Given the description of an element on the screen output the (x, y) to click on. 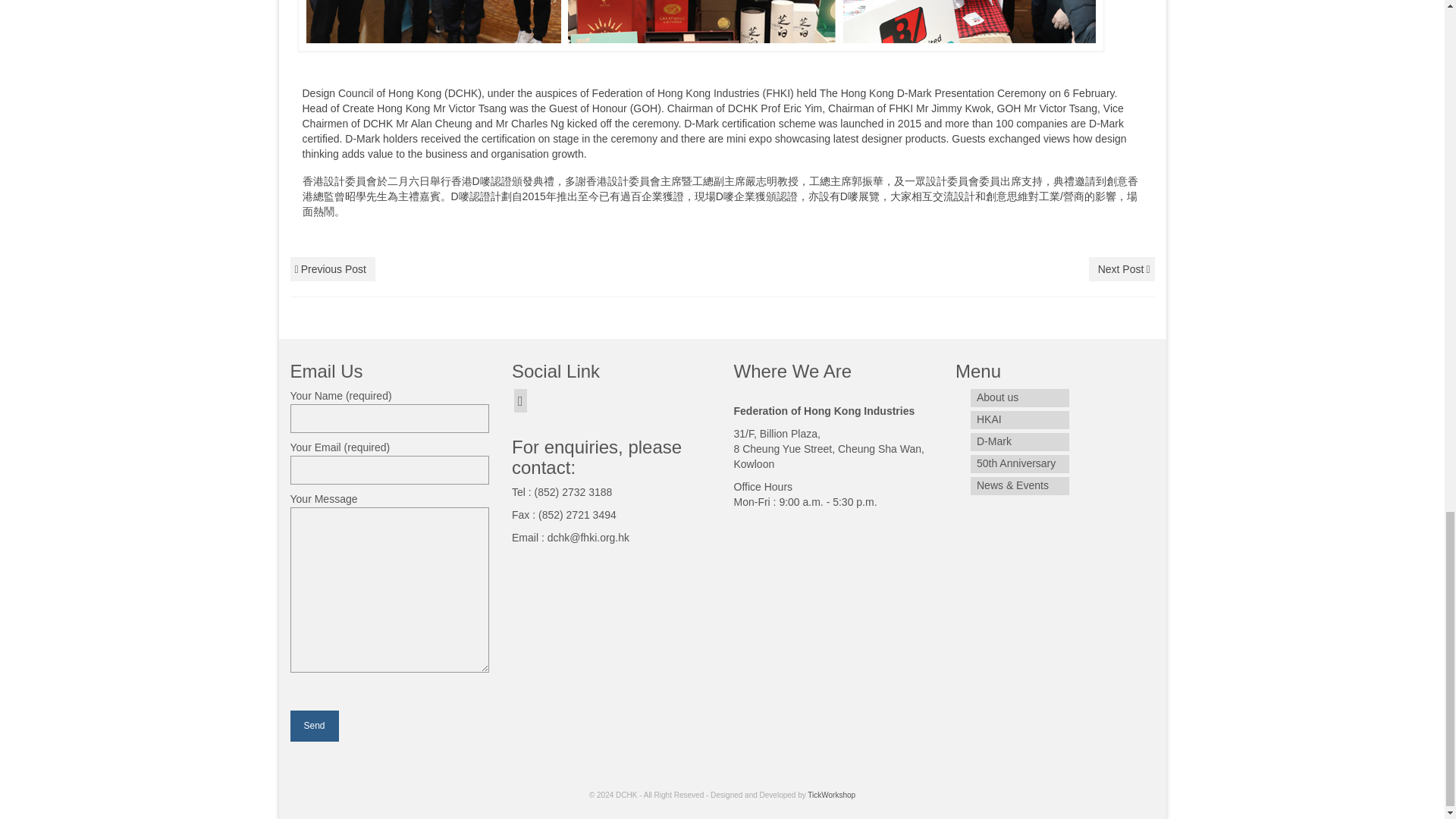
Send (313, 726)
